Given the description of an element on the screen output the (x, y) to click on. 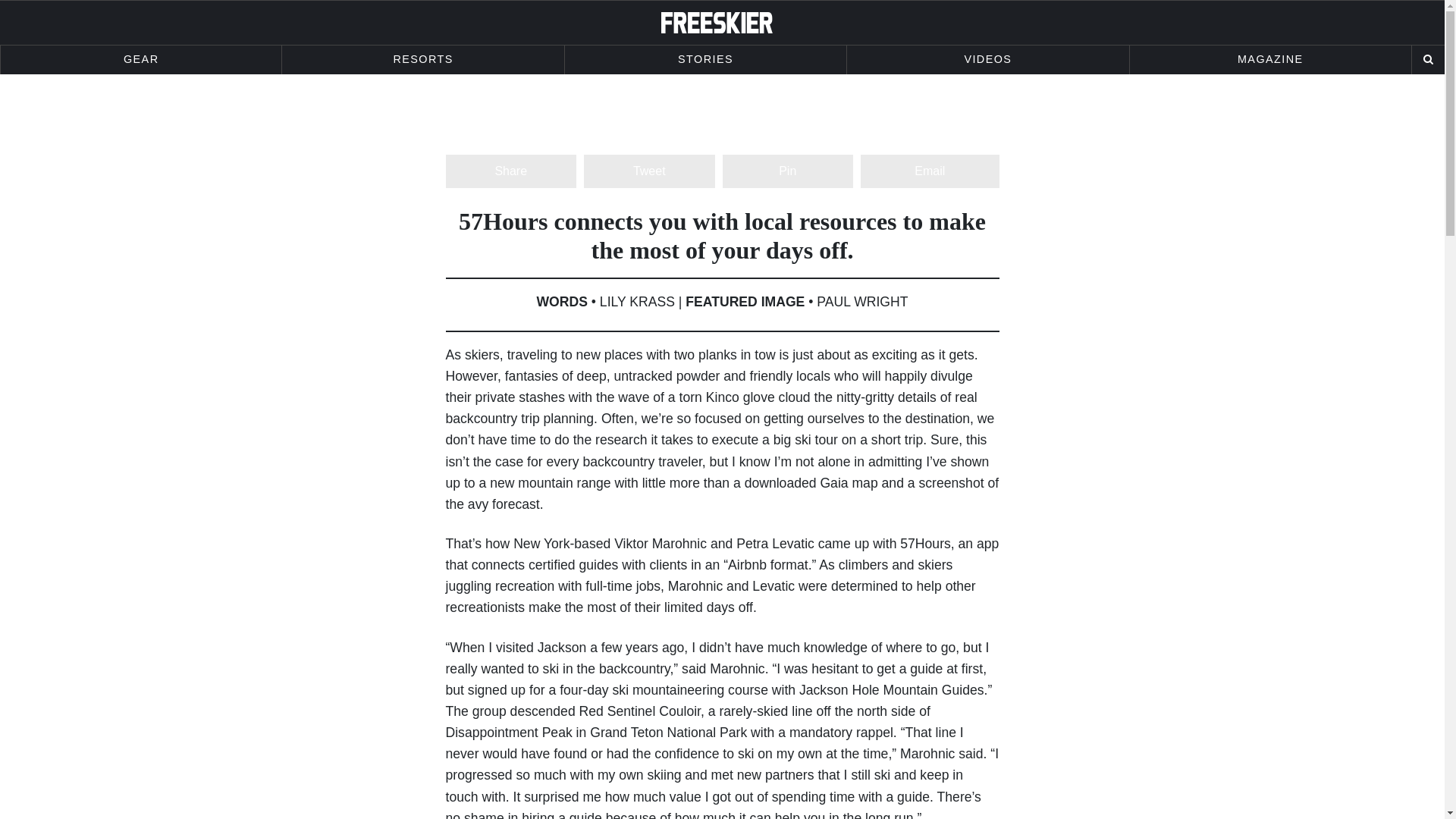
VIDEOS (987, 59)
RESORTS (422, 59)
GEAR (141, 59)
MAGAZINE (1269, 59)
GEAR (141, 59)
RESORTS (422, 59)
STORIES (704, 59)
VIDEOS (987, 59)
STORIES (704, 59)
MAGAZINE (1269, 59)
